Given the description of an element on the screen output the (x, y) to click on. 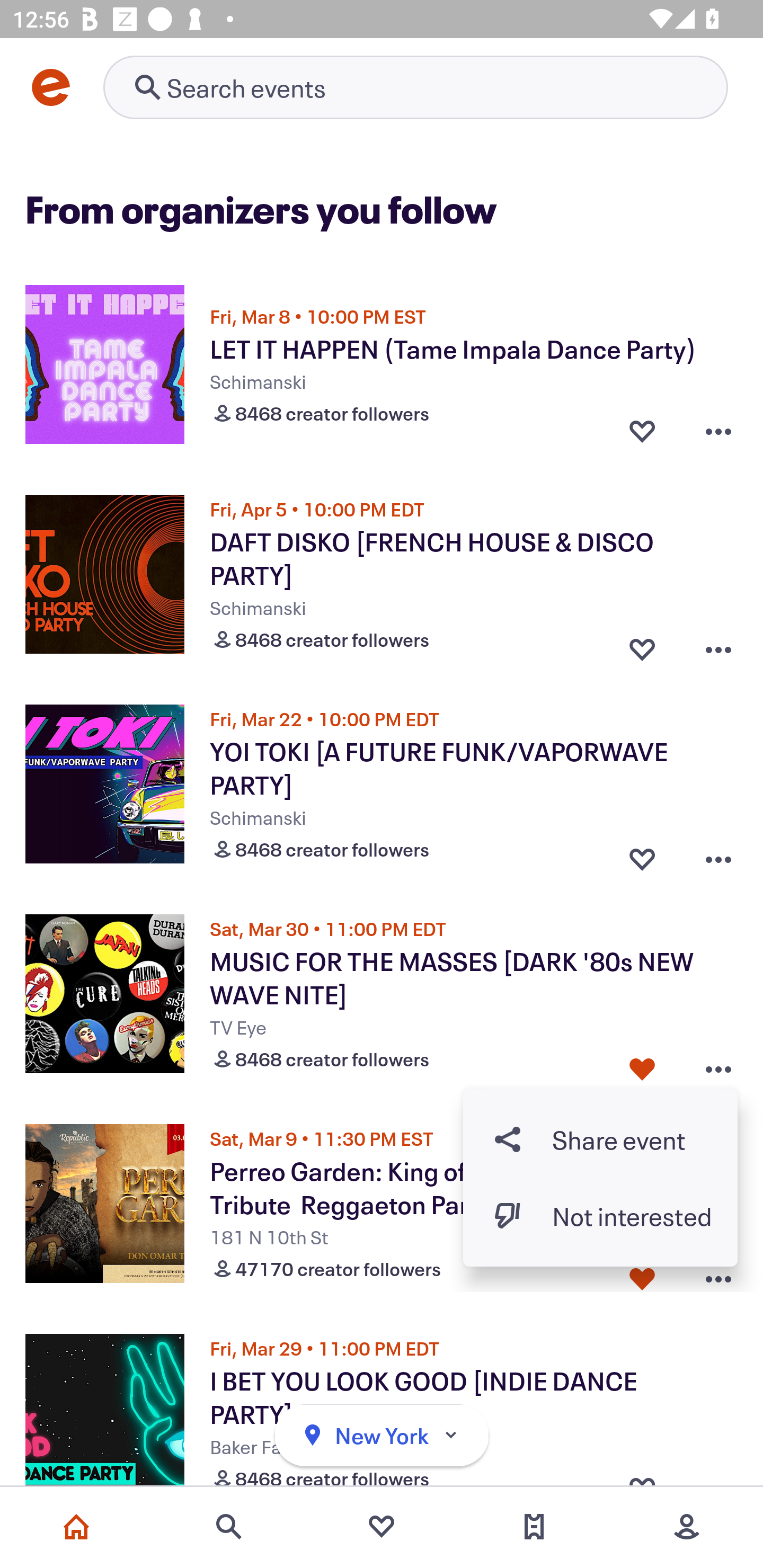
Share button Share event (600, 1138)
Dislike event button Not interested (600, 1215)
